Given the description of an element on the screen output the (x, y) to click on. 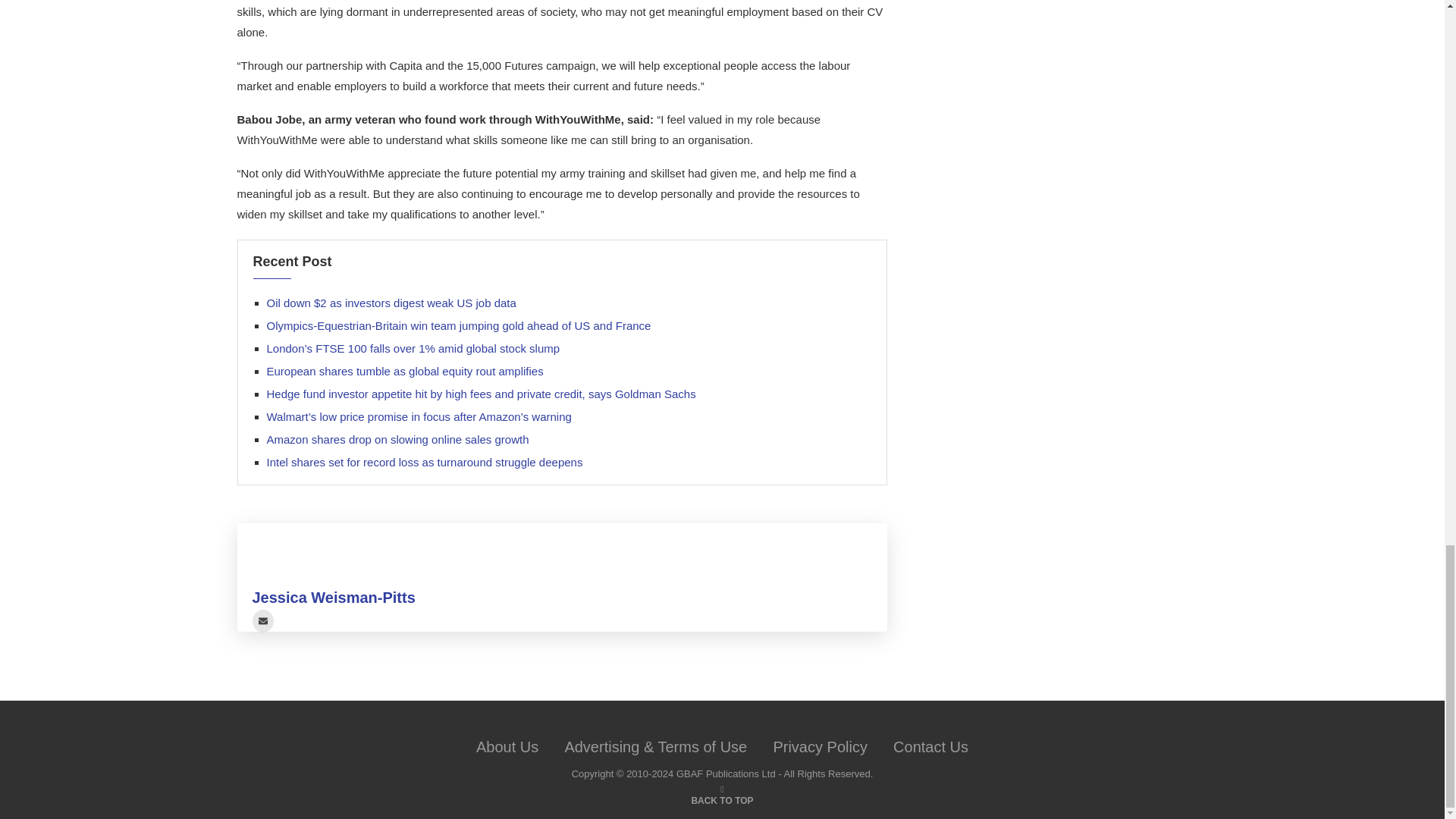
BACK TO TOP (721, 799)
European shares tumble as global equity rout amplifies (404, 370)
About Us (507, 746)
Amazon shares drop on slowing online sales growth (397, 439)
User email (262, 620)
Contact Us (930, 746)
Privacy Policy (819, 746)
Jessica Weisman-Pitts (332, 597)
